Given the description of an element on the screen output the (x, y) to click on. 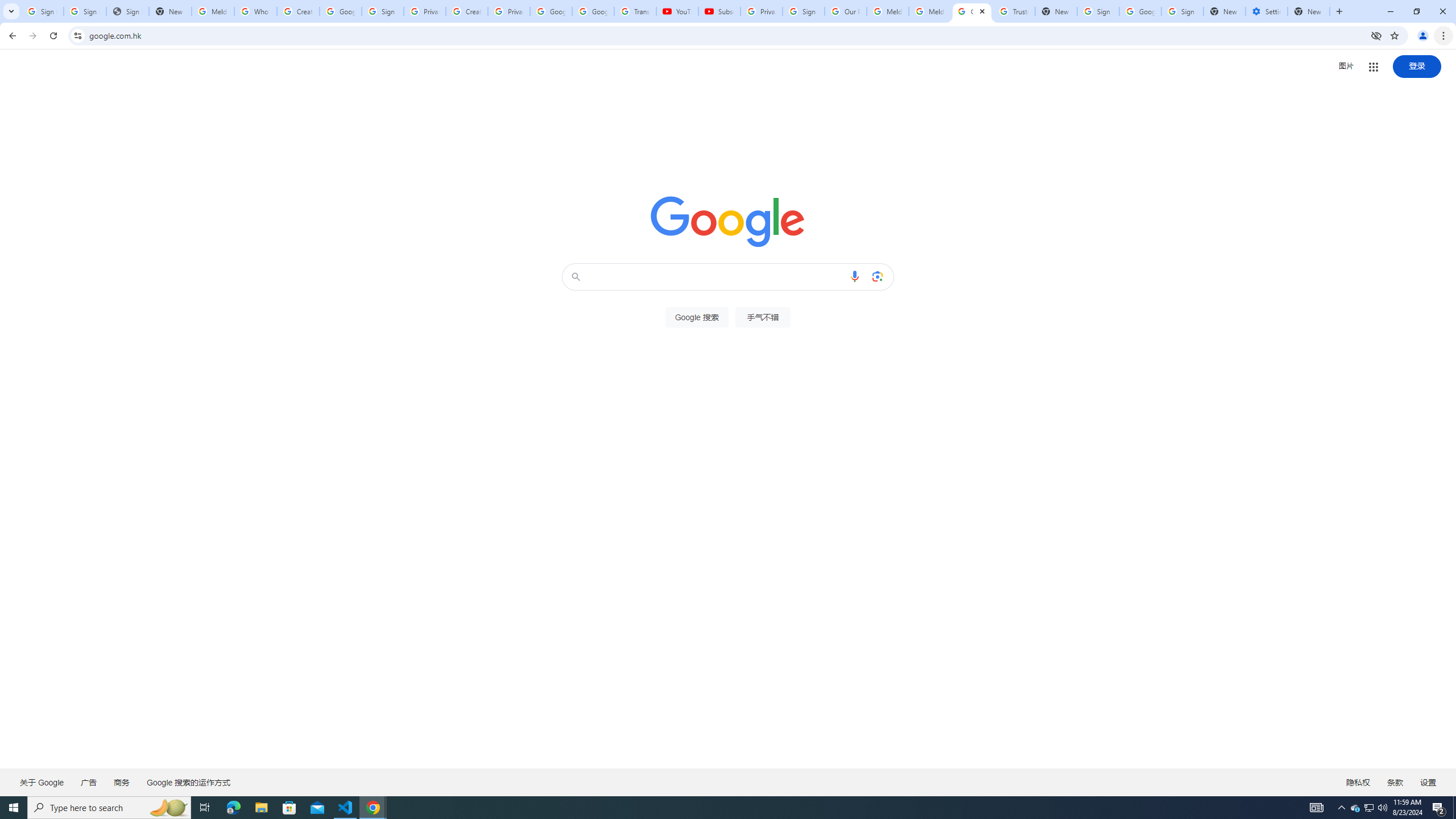
Google Cybersecurity Innovations - Google Safety Center (1139, 11)
